Given the description of an element on the screen output the (x, y) to click on. 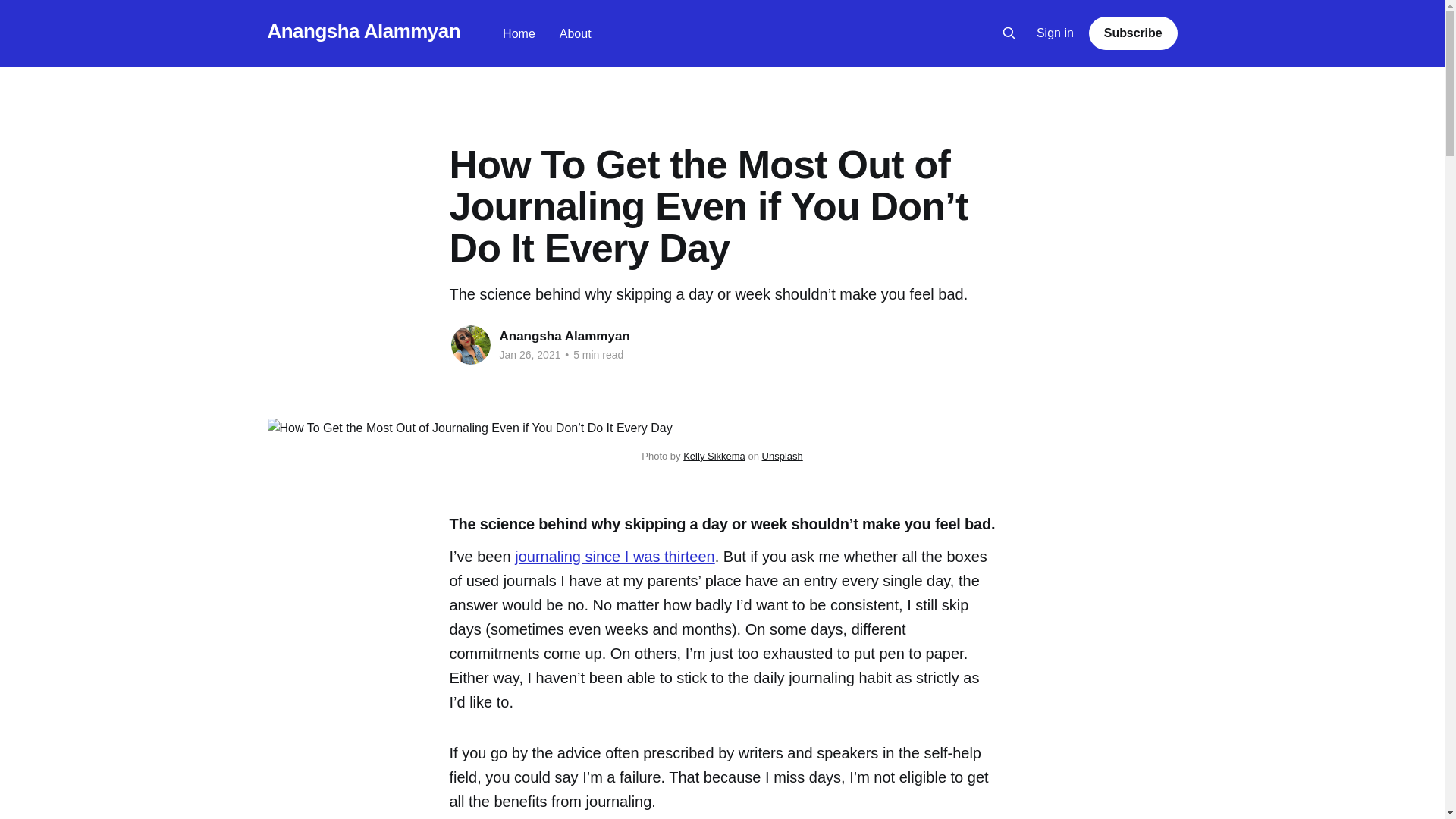
Sign in (1055, 33)
Kelly Sikkema (713, 455)
Home (518, 33)
Unsplash (782, 455)
Anangsha Alammyan (363, 31)
journaling since I was thirteen (614, 556)
Anangsha Alammyan (563, 336)
About (575, 33)
Subscribe (1133, 32)
